Given the description of an element on the screen output the (x, y) to click on. 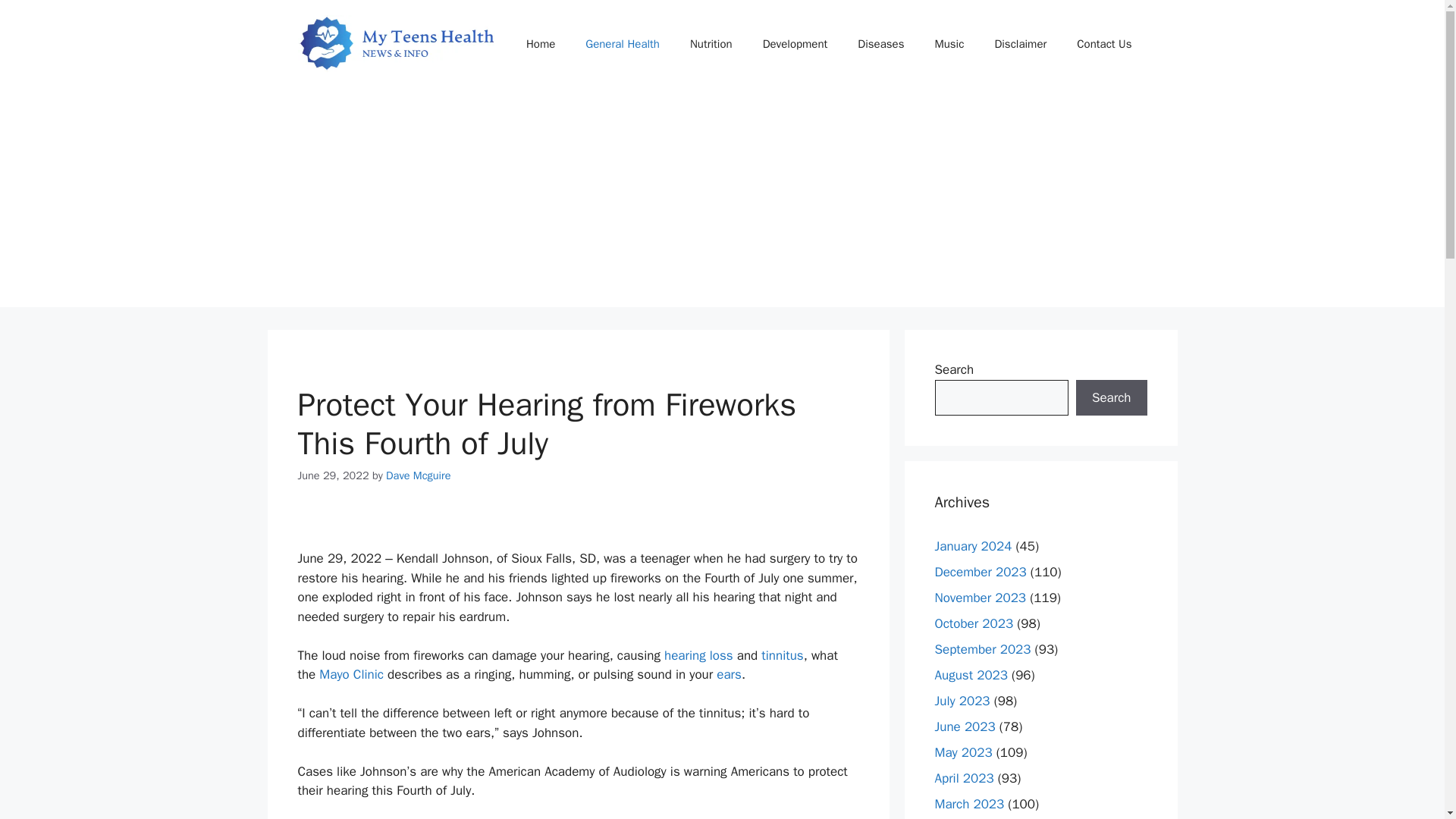
December 2023 (980, 571)
General Health (622, 43)
Search (1111, 398)
May 2023 (962, 752)
April 2023 (963, 778)
Development (795, 43)
tinnitus (782, 655)
Music (948, 43)
Contact Us (1104, 43)
July 2023 (962, 700)
November 2023 (980, 597)
Dave Mcguire (417, 475)
Diseases (880, 43)
Disclaimer (1019, 43)
